Given the description of an element on the screen output the (x, y) to click on. 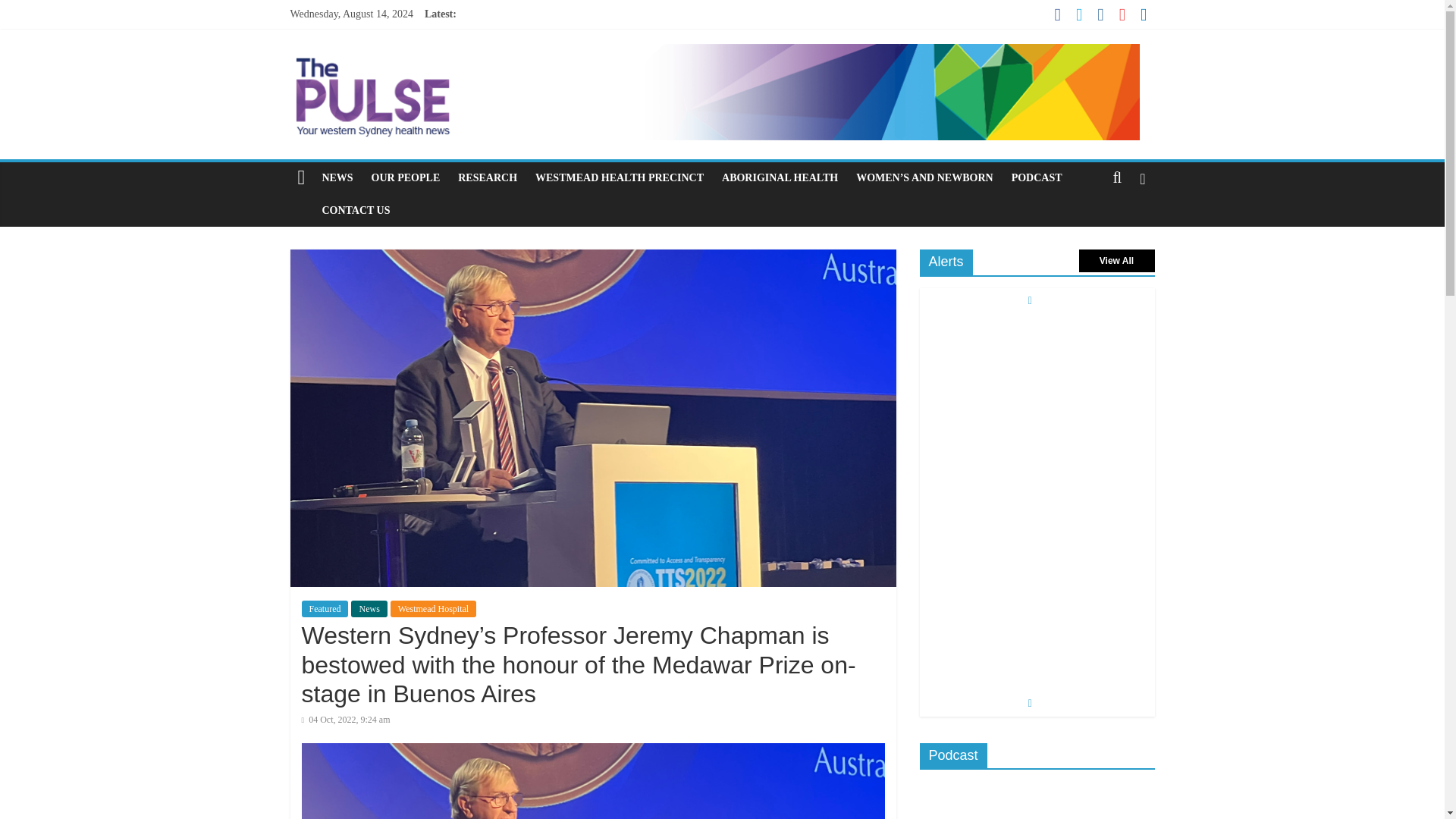
OUR PEOPLE (405, 178)
04 Oct, 2022, 9:24 am (345, 719)
CONTACT US (355, 210)
9:24 am (345, 719)
Featured (325, 608)
ABORIGINAL HEALTH (780, 178)
RESEARCH (486, 178)
WESTMEAD HEALTH PRECINCT (619, 178)
News (368, 608)
NEWS (337, 178)
